Given the description of an element on the screen output the (x, y) to click on. 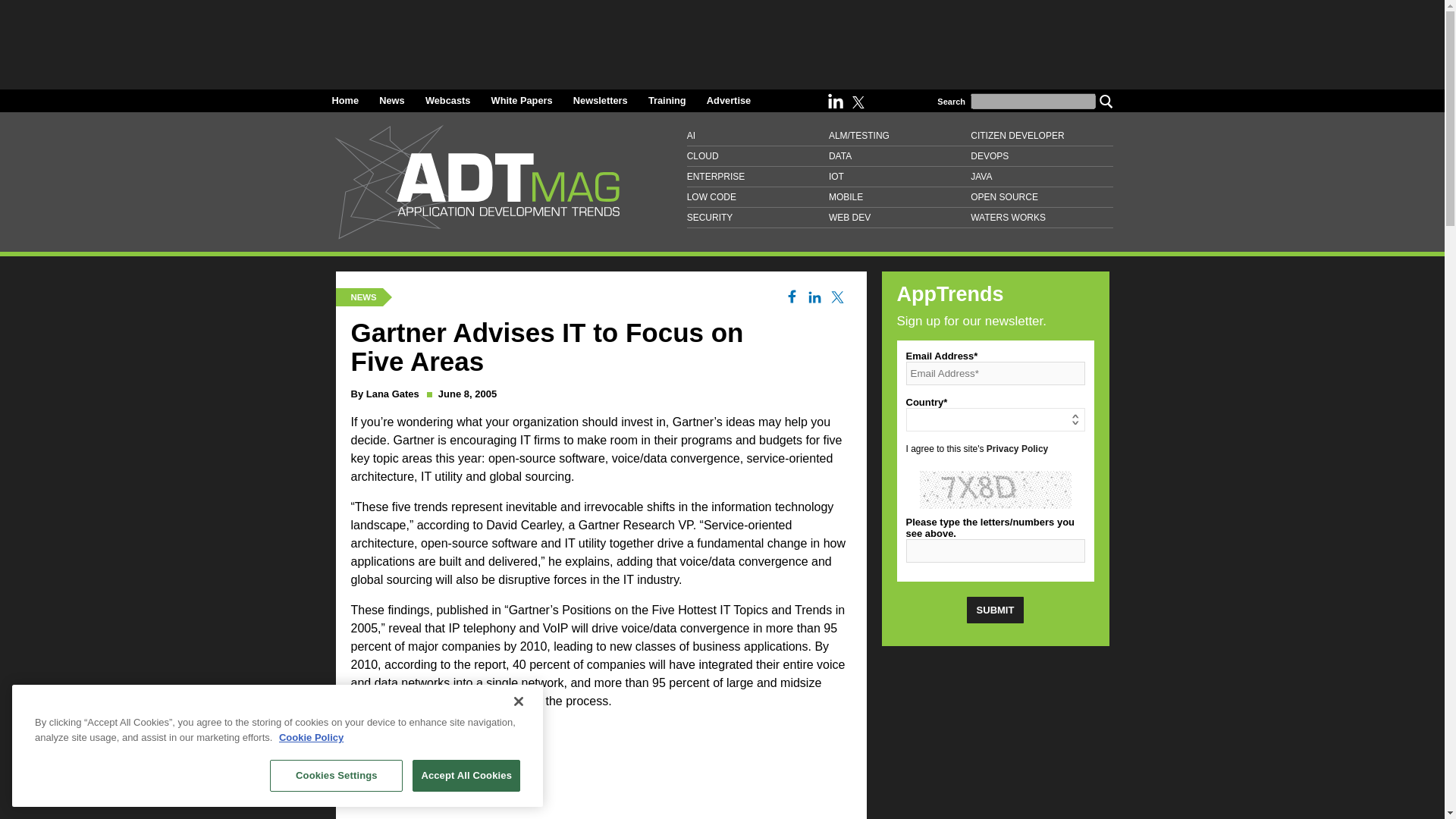
NEWS (362, 297)
DATA (899, 156)
CITIZEN DEVELOPER (1041, 136)
News (391, 100)
Submit (995, 610)
WEB DEV (899, 218)
MOBILE (899, 197)
JAVA (1041, 177)
Advertise (728, 100)
OPEN SOURCE (1041, 197)
3rd party ad content (721, 39)
3rd party ad content (600, 770)
Search (1106, 100)
Search (1106, 100)
SECURITY (757, 218)
